Given the description of an element on the screen output the (x, y) to click on. 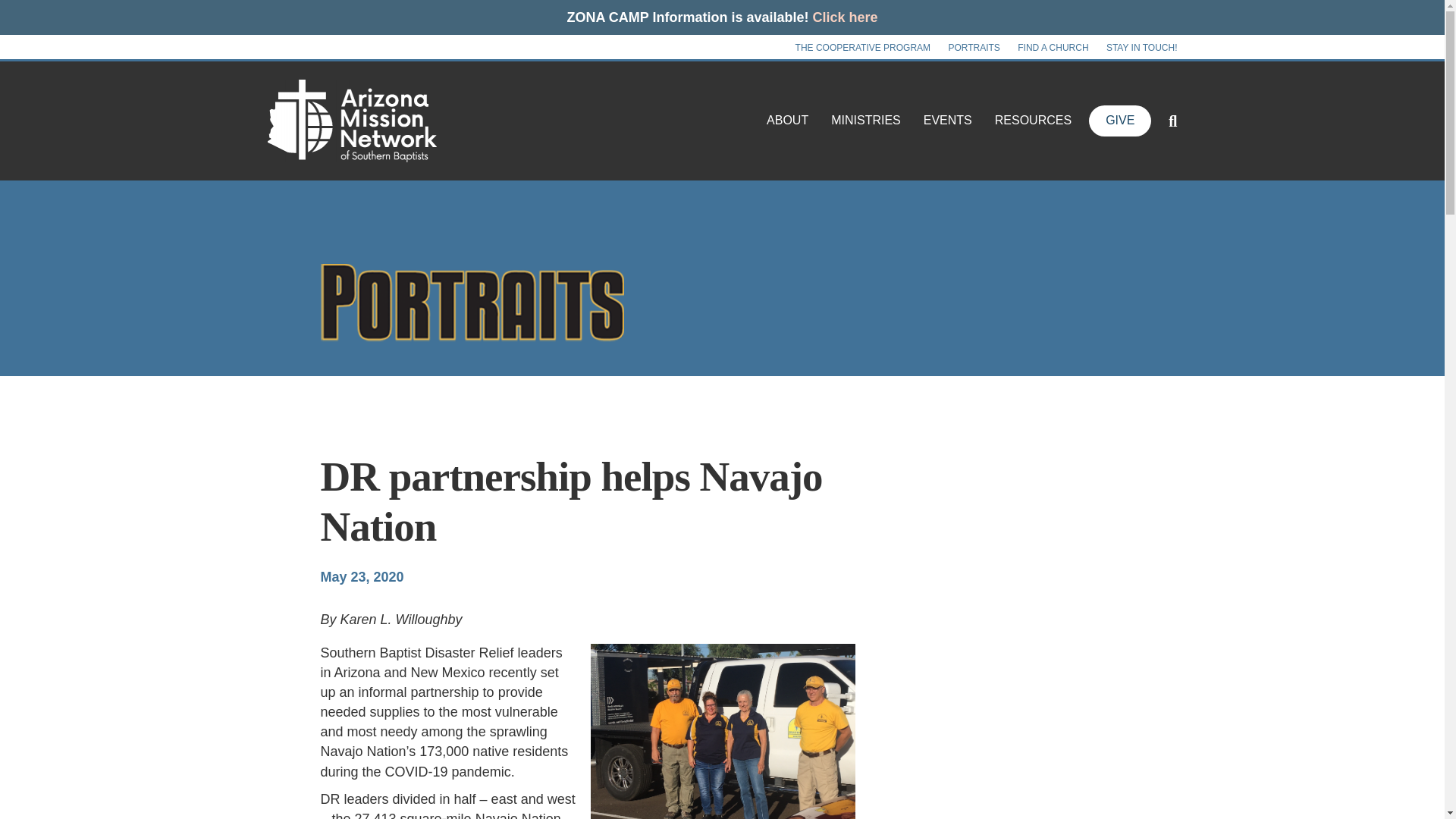
STAY IN TOUCH! (1142, 47)
ABOUT (787, 120)
THE COOPERATIVE PROGRAM (862, 47)
FIND A CHURCH (1053, 47)
MINISTRIES (865, 120)
GIVE (1120, 120)
RESOURCES (1033, 120)
Click here (844, 17)
EVENTS (948, 120)
PORTRAITS (973, 47)
